Given the description of an element on the screen output the (x, y) to click on. 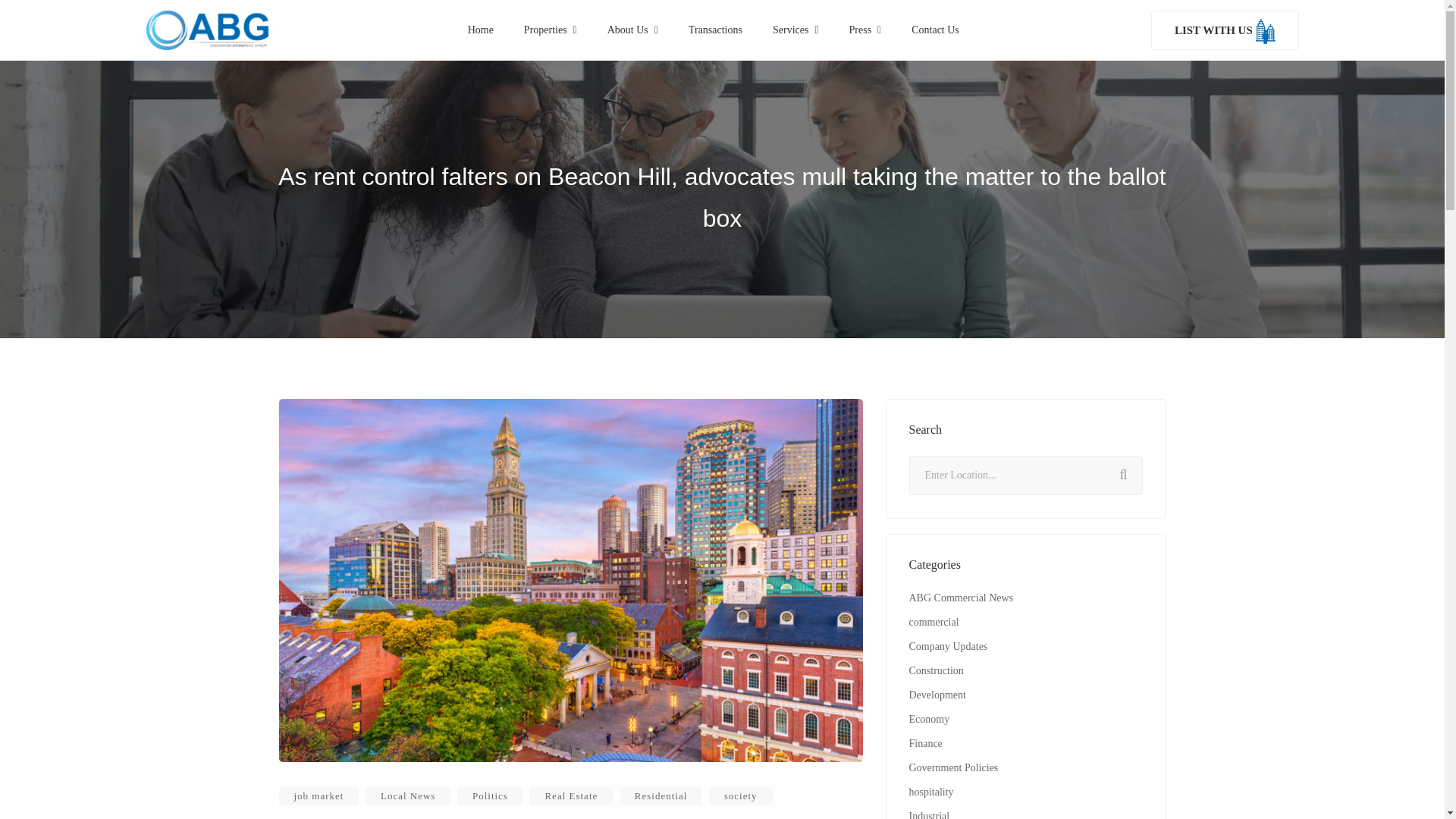
Real Estate (570, 796)
society (741, 796)
Local News (407, 796)
job market (319, 796)
List With US (1224, 29)
Residential (661, 796)
LIST WITH US (1224, 29)
ABG Commercial Realty-Boston Commercial Real Estate News (206, 29)
Politics (489, 796)
